Given the description of an element on the screen output the (x, y) to click on. 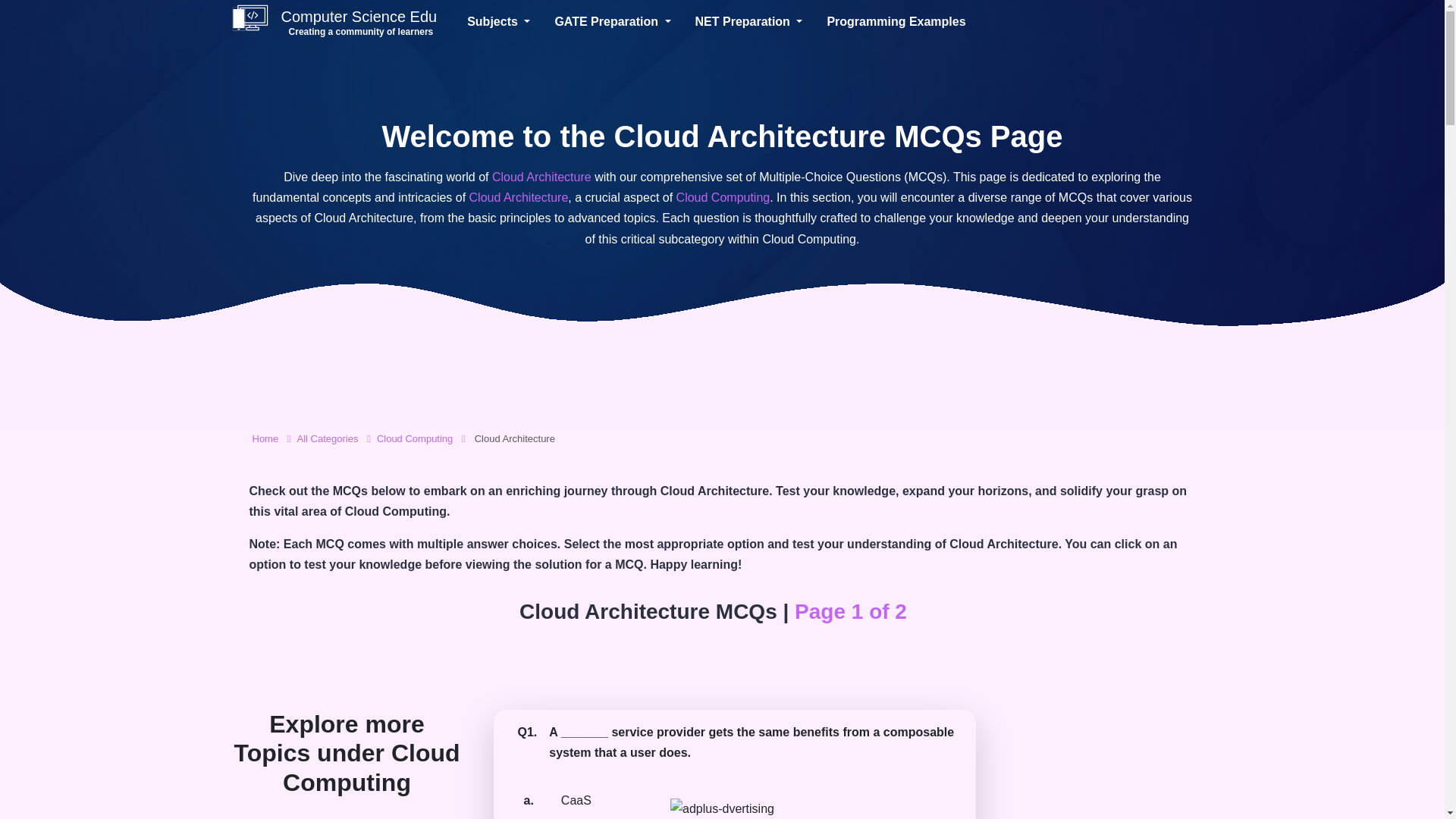
Cloud Computing (414, 438)
Home (264, 438)
NET Preparation (754, 20)
Subjects (504, 20)
All Categories (333, 21)
Ad.Plus Advertising (327, 438)
GATE Preparation (721, 808)
Programming Examples (618, 20)
